Given the description of an element on the screen output the (x, y) to click on. 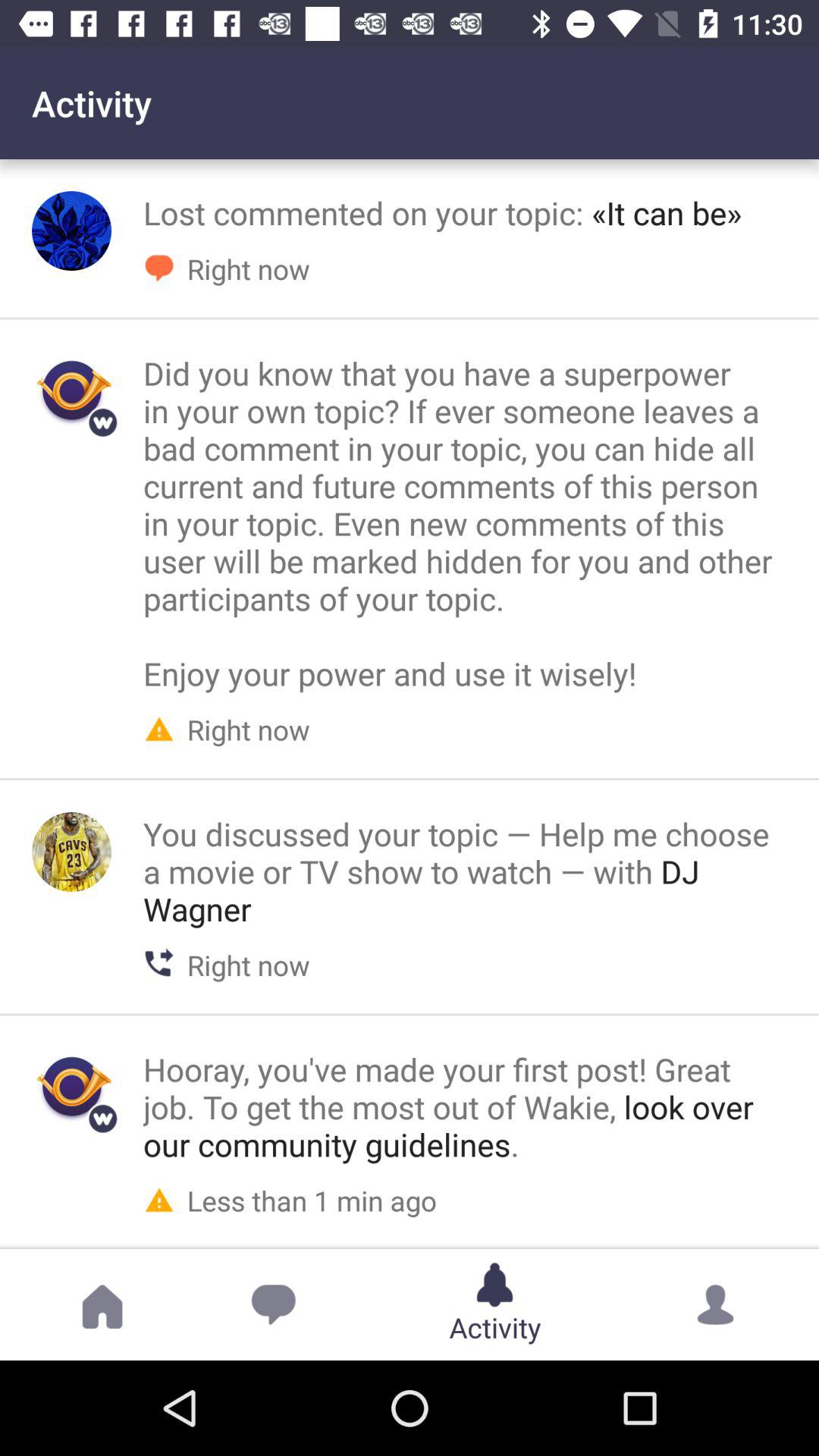
activate top activity icon (71, 230)
